Given the description of an element on the screen output the (x, y) to click on. 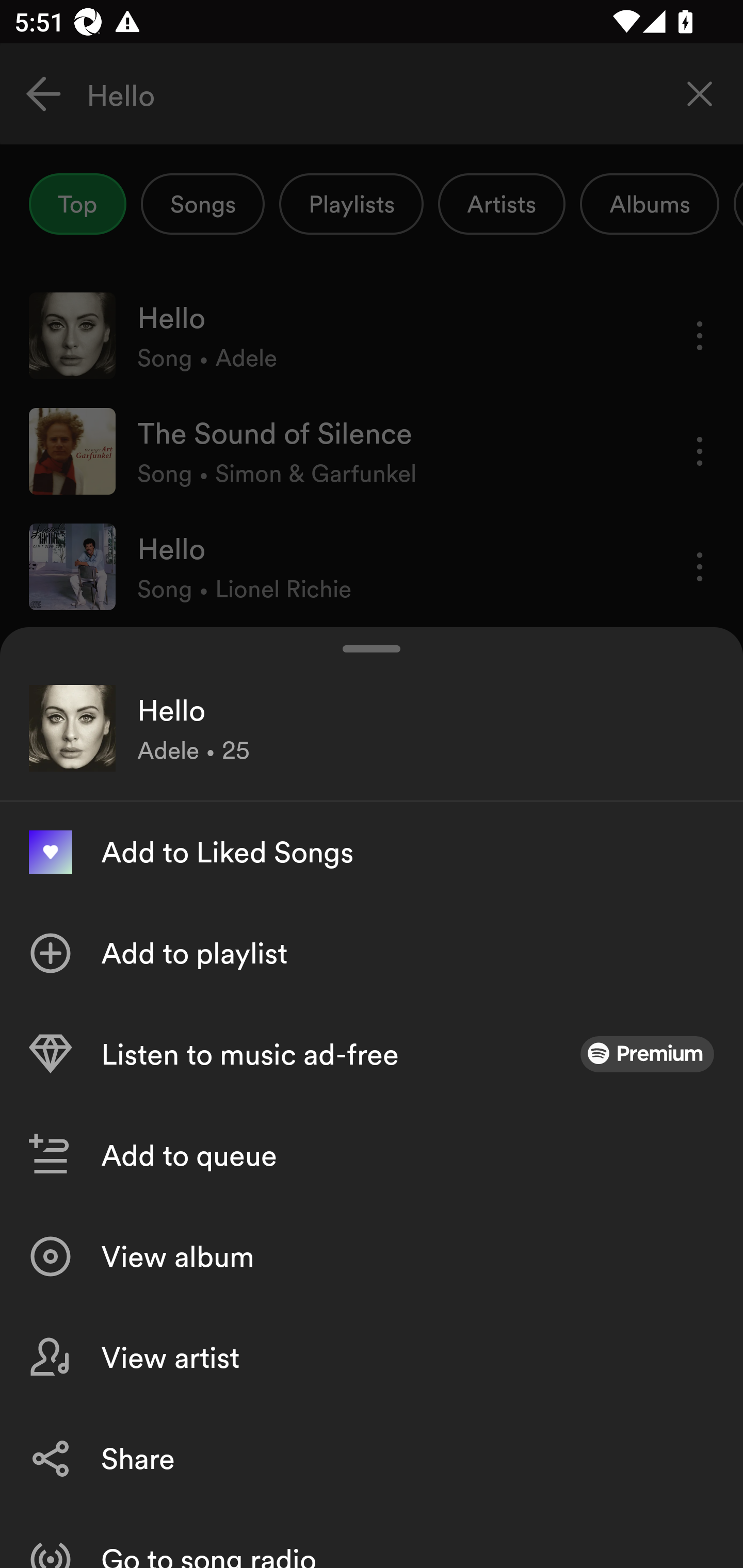
Add to Liked Songs (371, 852)
Add to playlist (371, 953)
Listen to music ad-free (371, 1054)
Add to queue (371, 1155)
View album (371, 1256)
View artist (371, 1357)
Share (371, 1458)
Go to song radio (371, 1538)
